Given the description of an element on the screen output the (x, y) to click on. 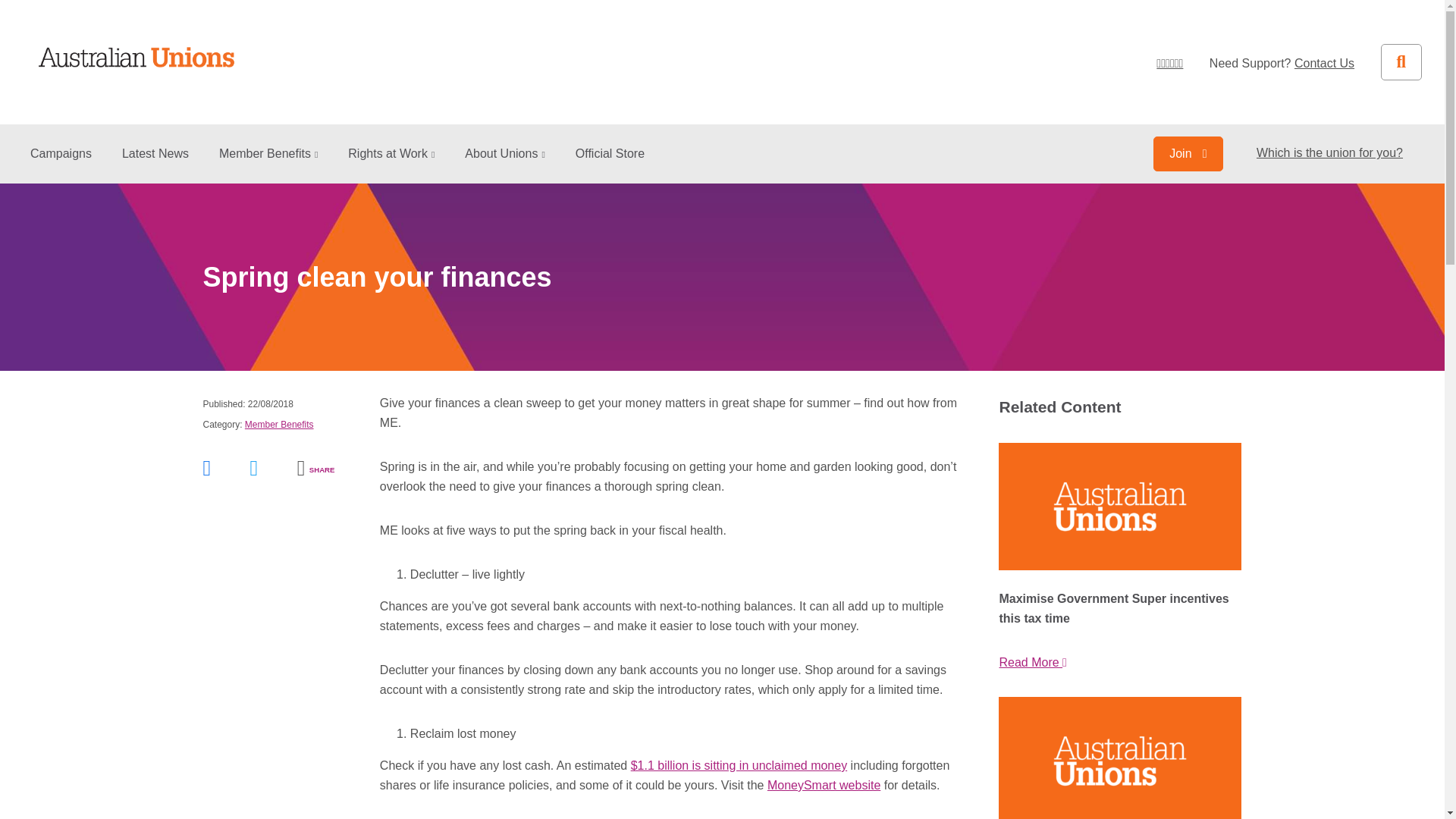
Contact Us (1324, 62)
